Given the description of an element on the screen output the (x, y) to click on. 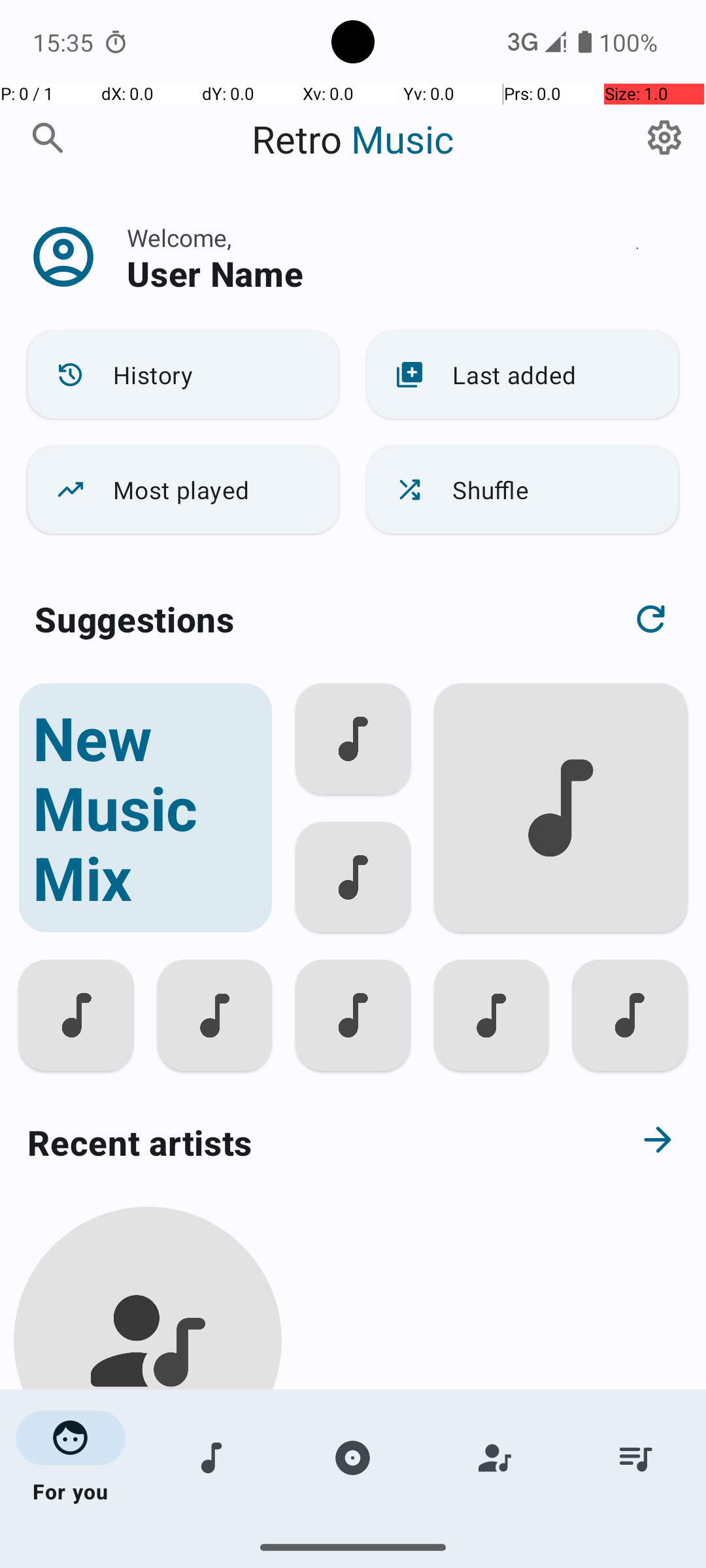
Ana Element type: android.widget.TextView (147, 1503)
